Given the description of an element on the screen output the (x, y) to click on. 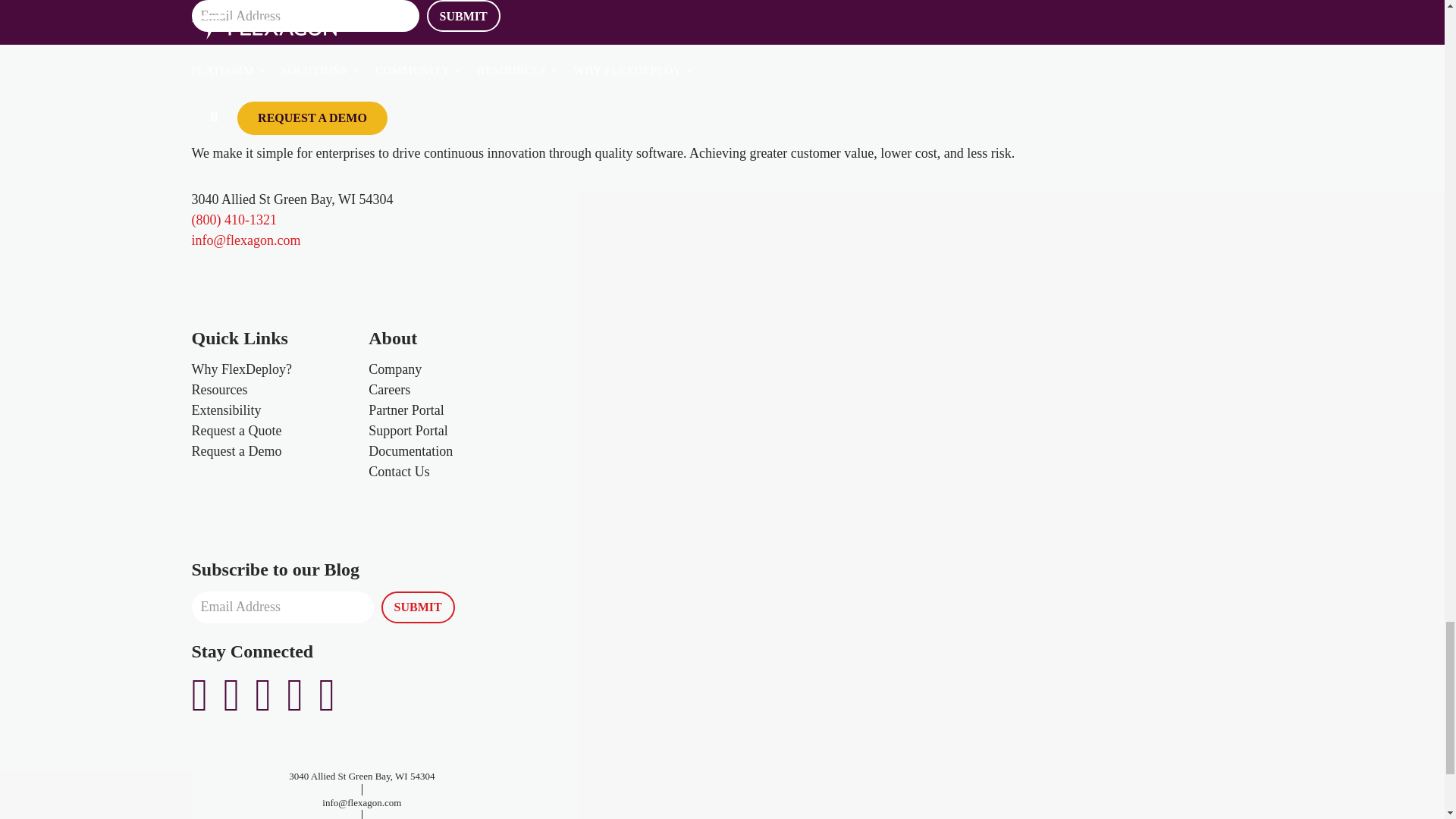
Submit (417, 607)
